Given the description of an element on the screen output the (x, y) to click on. 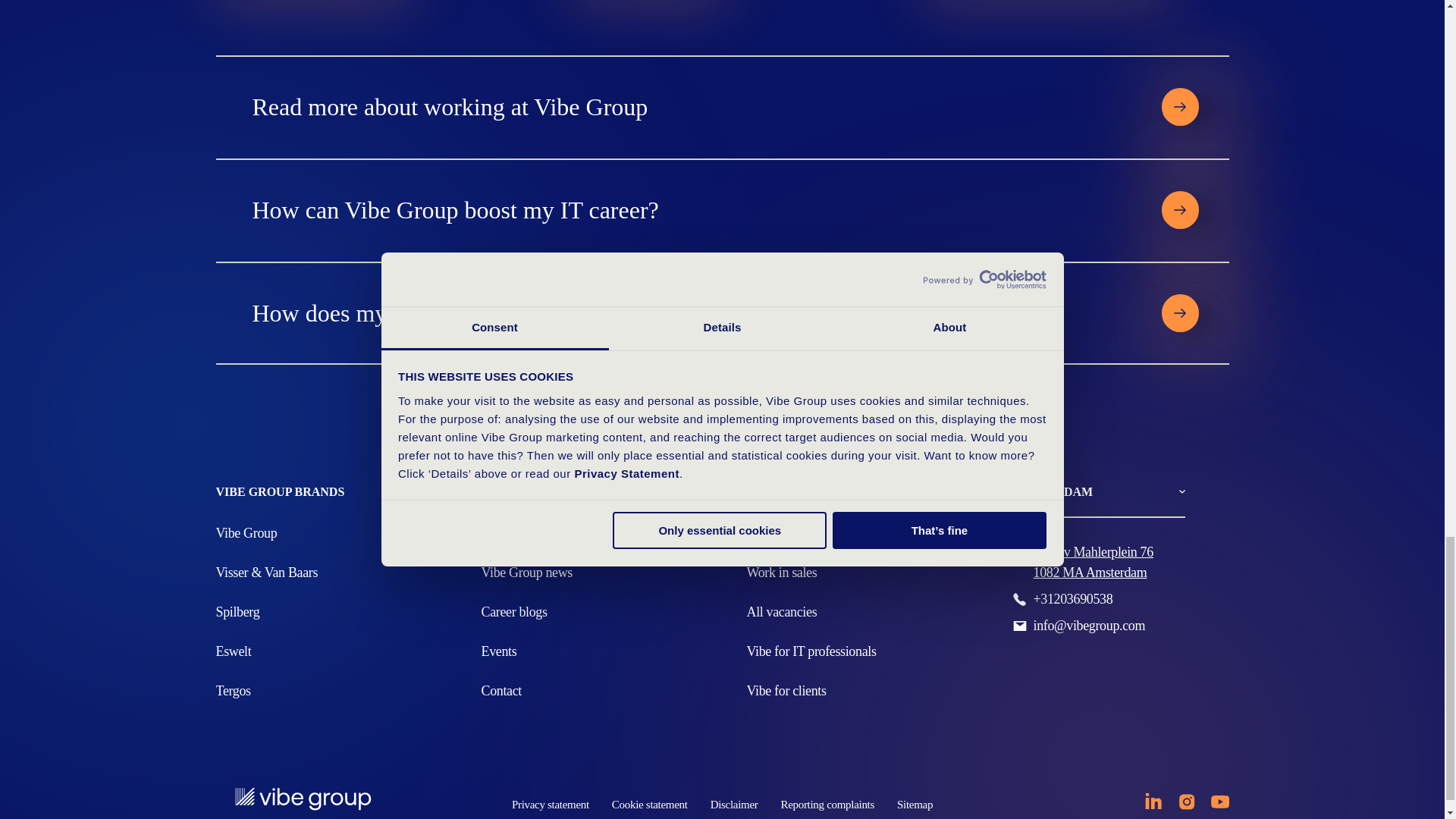
Read more about working at Vibe Group (688, 106)
